Given the description of an element on the screen output the (x, y) to click on. 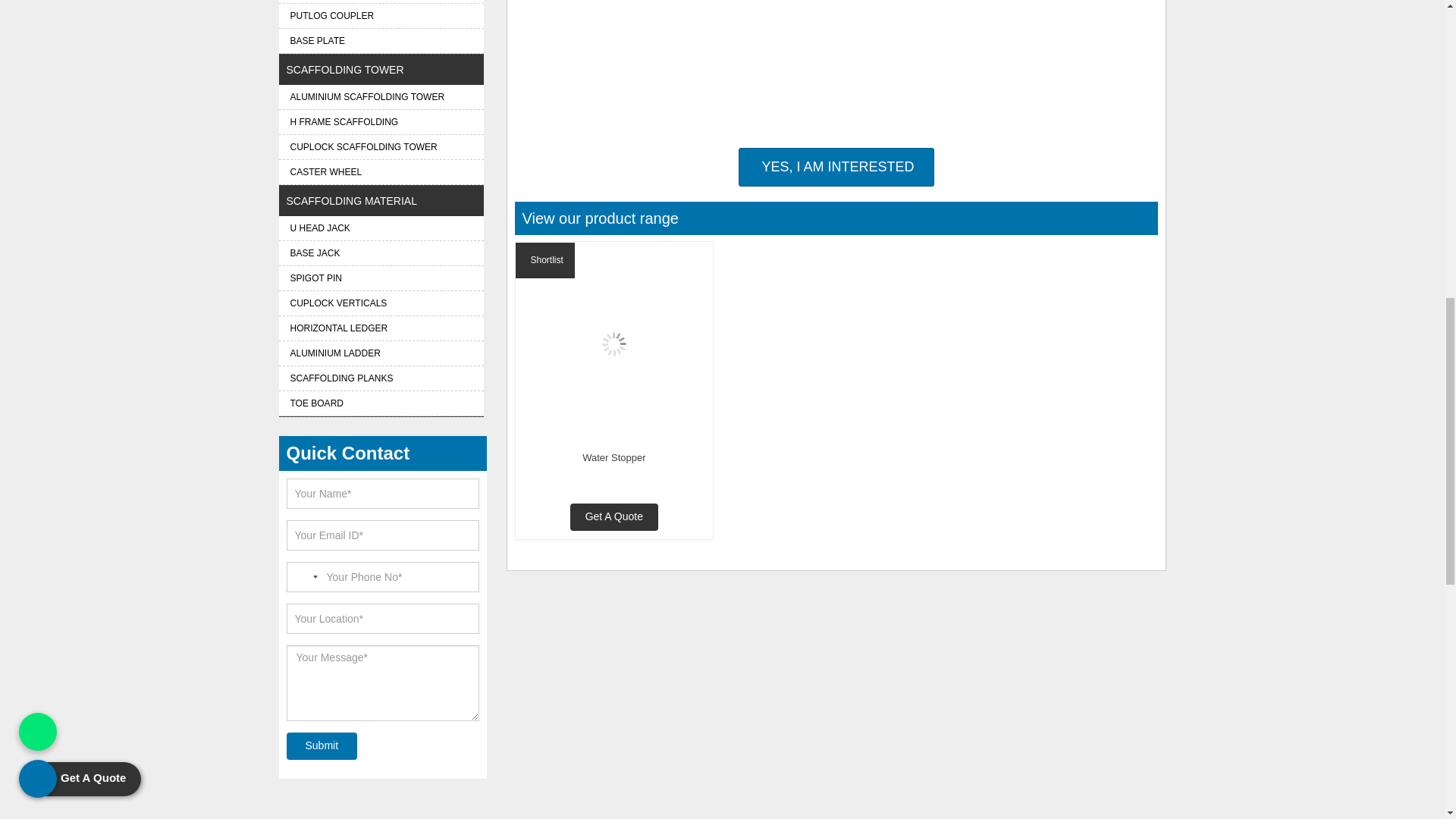
Get A Quote (836, 167)
SLEEVE COUPLER (381, 1)
BASE PLATE (381, 40)
Get A Quote (614, 516)
Shortlist (545, 260)
YES, I AM INTERESTED (836, 167)
 Water Stopper Manufacturers in Maharashtra (614, 344)
PUTLOG COUPLER (381, 15)
click to add to bulk enquiry (545, 260)
